Given the description of an element on the screen output the (x, y) to click on. 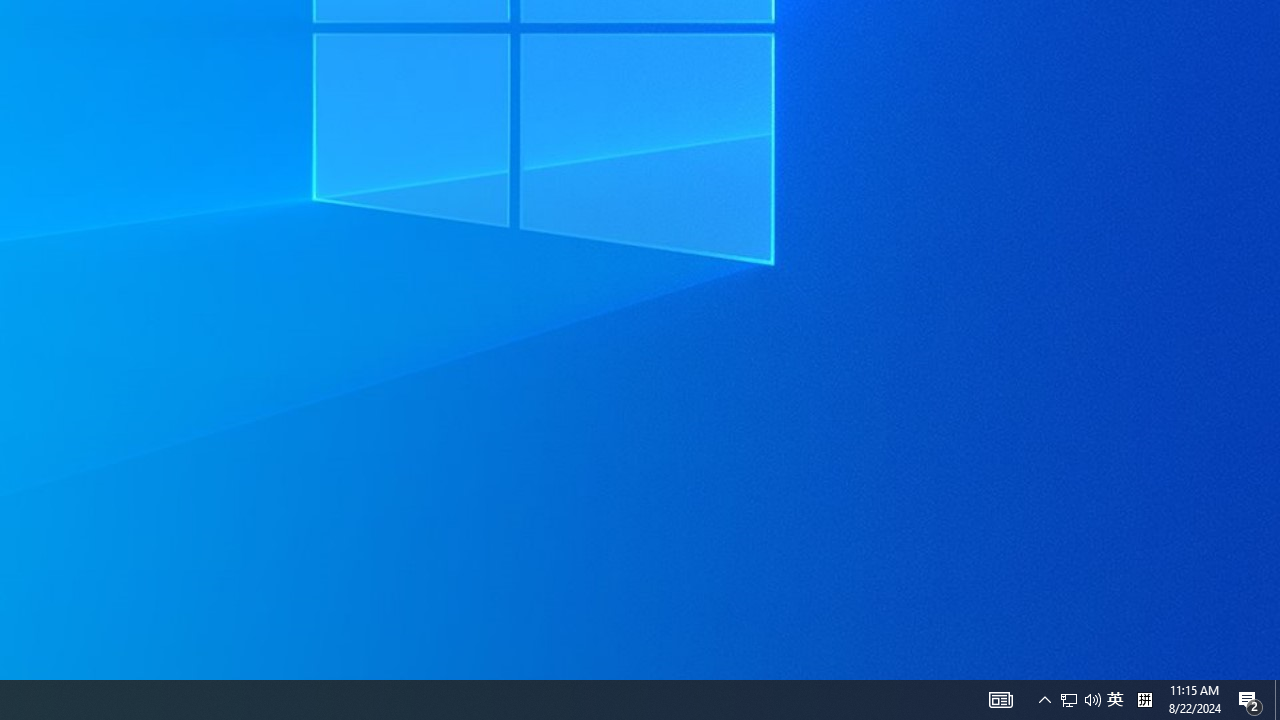
Q2790: 100% (1092, 699)
User Promoted Notification Area (1080, 699)
AutomationID: 4105 (1000, 699)
Tray Input Indicator - Chinese (Simplified, China) (1069, 699)
Show desktop (1144, 699)
Action Center, 2 new notifications (1115, 699)
Notification Chevron (1277, 699)
